Given the description of an element on the screen output the (x, y) to click on. 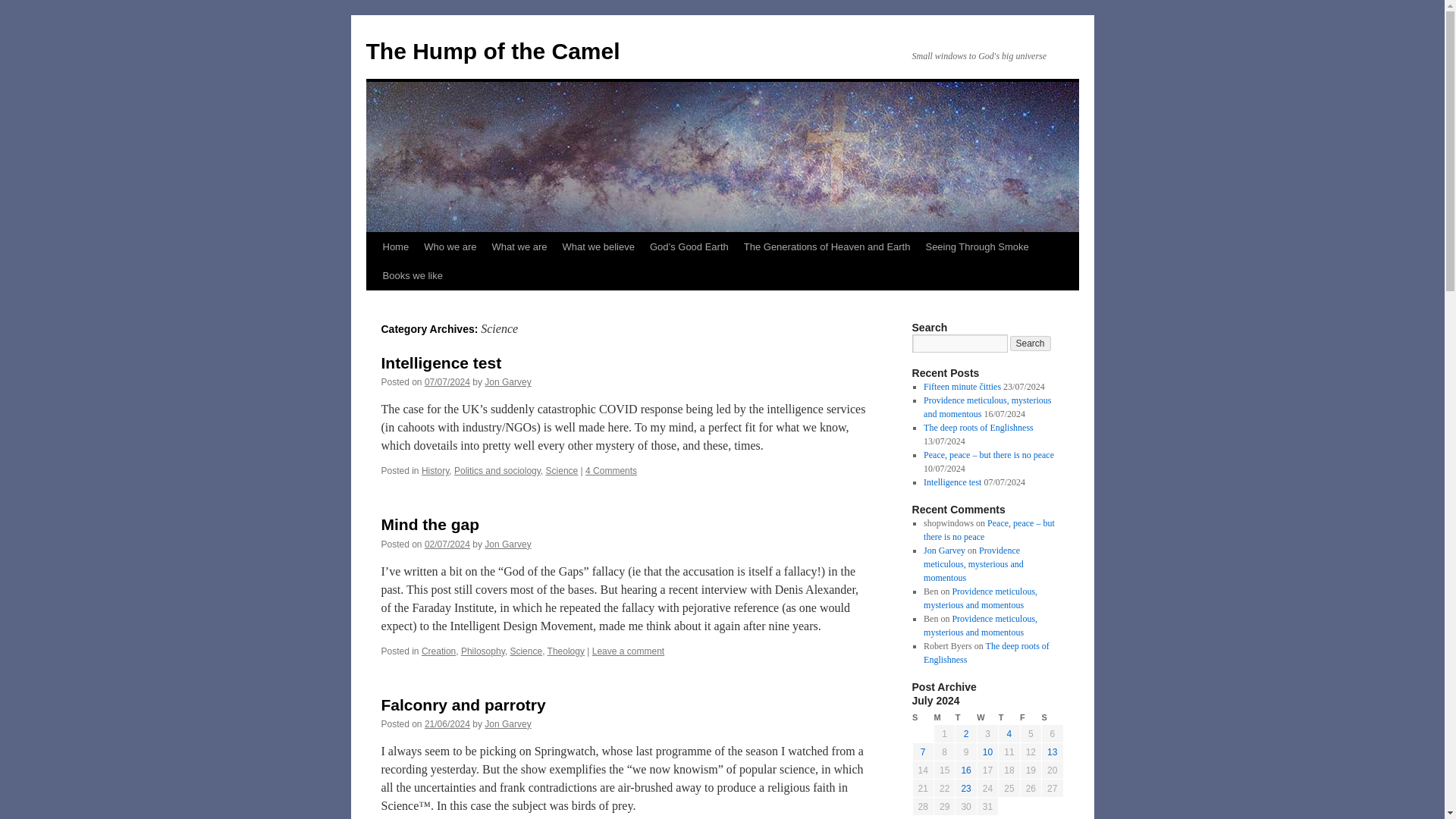
04:22 pm (447, 543)
View all posts by Jon Garvey (507, 724)
Intelligence test (440, 362)
Theology (566, 651)
View all posts by Jon Garvey (507, 381)
Science (562, 470)
History (435, 470)
Jon Garvey (507, 543)
4 Comments (611, 470)
Jon Garvey (507, 724)
10:26 am (447, 724)
Leave a comment (627, 651)
Philosophy (483, 651)
Jon Garvey (507, 381)
View all posts by Jon Garvey (507, 543)
